Given the description of an element on the screen output the (x, y) to click on. 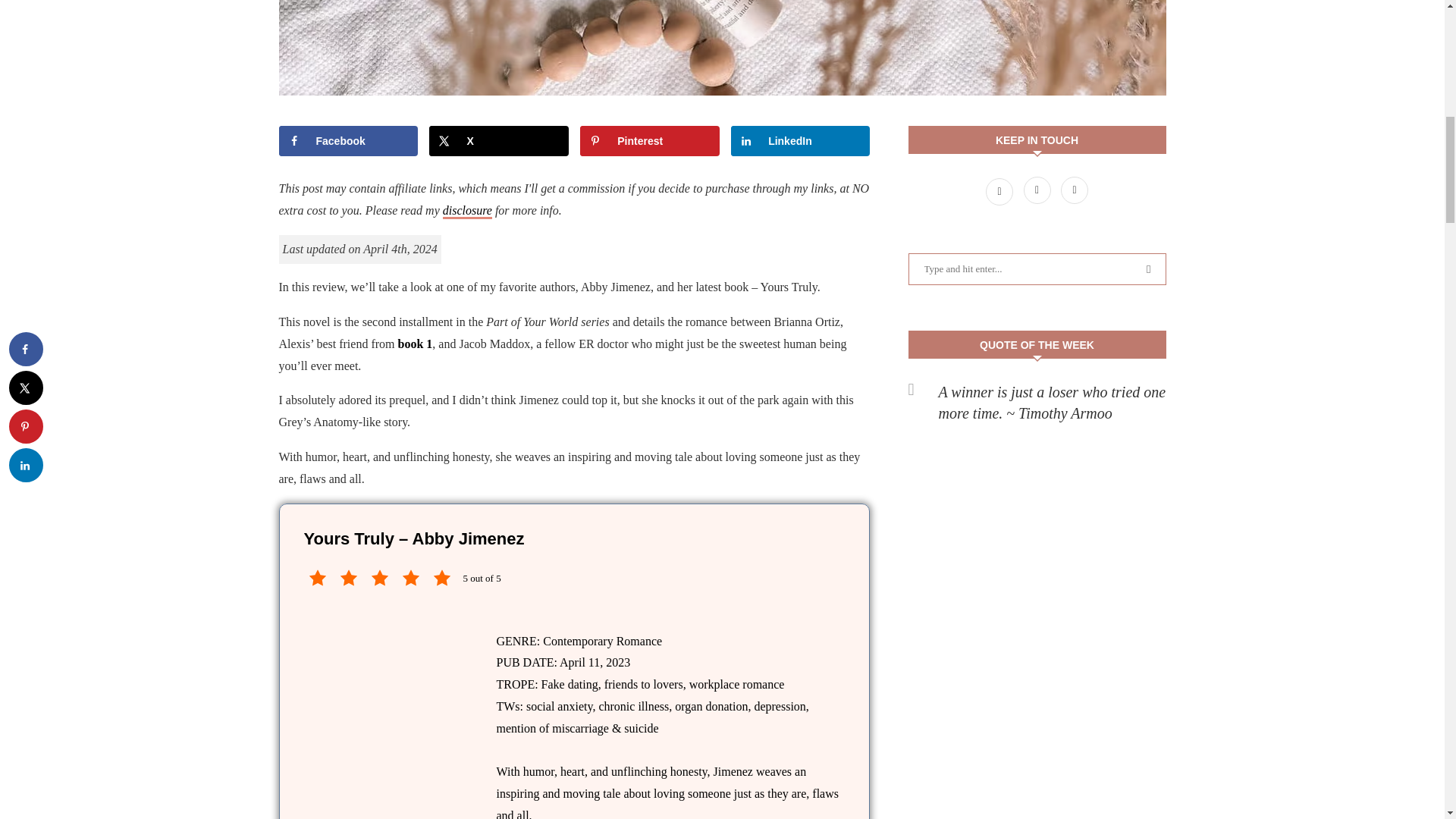
yours truly abby jimenez book review december 2023 update (722, 47)
Share on X (498, 141)
Share on LinkedIn (799, 141)
Share on Facebook (348, 141)
Save to Pinterest (649, 141)
